Given the description of an element on the screen output the (x, y) to click on. 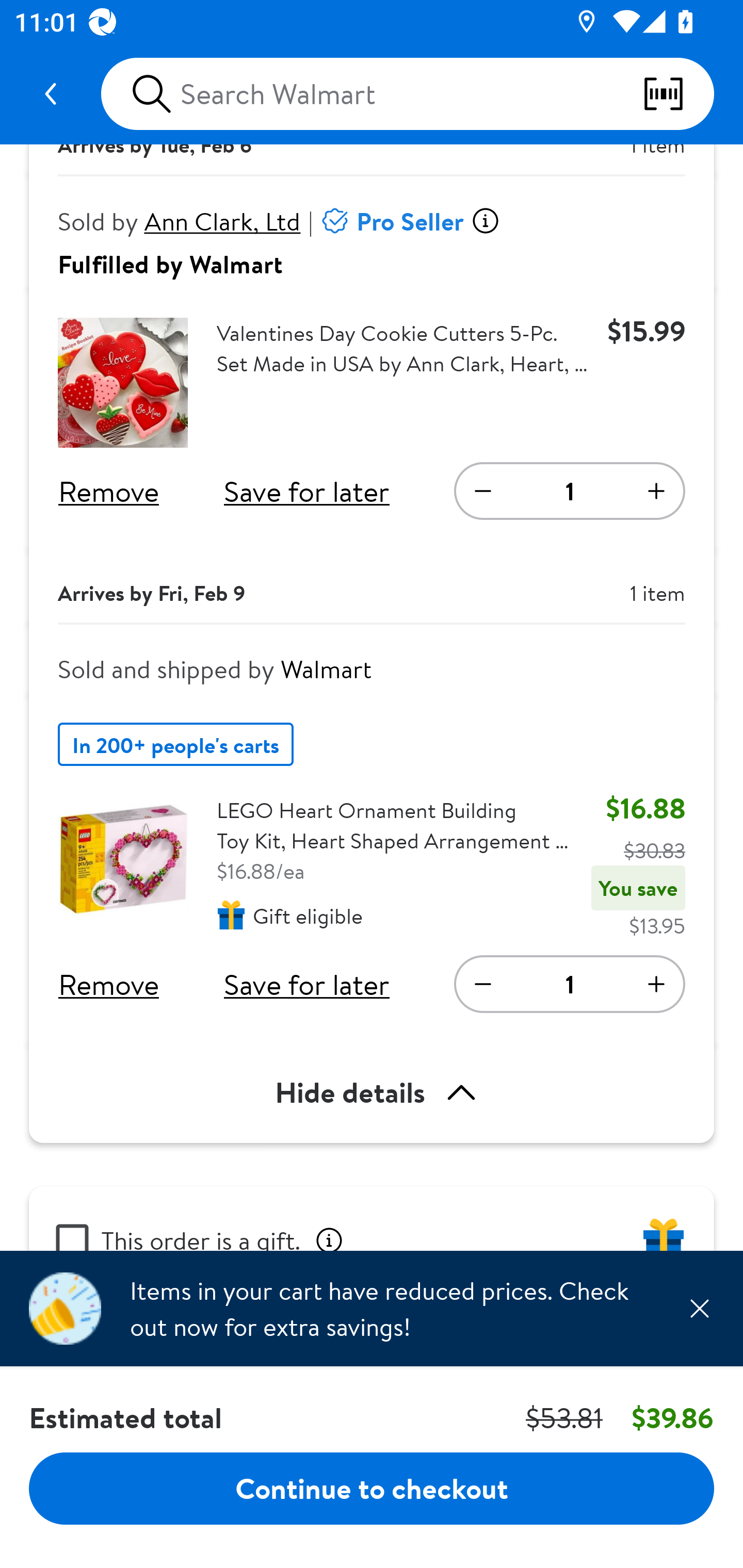
Navigate up (50, 93)
Search Walmart Opens barcode scanner (407, 94)
Opens barcode scanner (677, 94)
Sold by Ann Clark, Ltd (178, 220)
Info for Pro Seller (485, 220)
Item image (122, 383)
Item image (122, 859)
Hide details Expanded Hide details (371, 1092)
Learn more about gifting (329, 1238)
Close (699, 1308)
Continue to checkout (371, 1487)
